Given the description of an element on the screen output the (x, y) to click on. 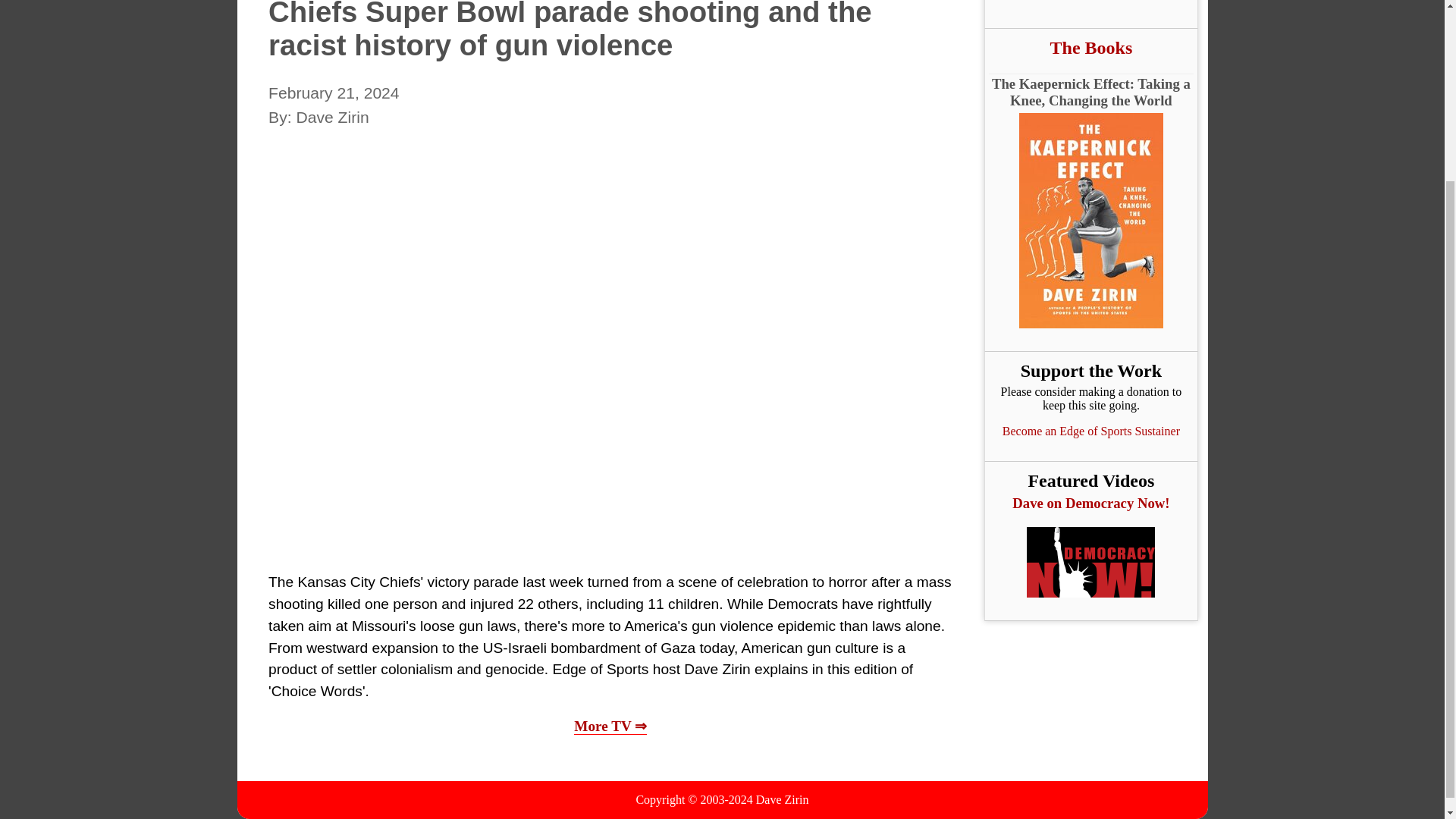
Dave Zirin (782, 799)
All Dave's Books (1090, 47)
Become an Edge of Sports Sustainer (1090, 431)
The Books (1090, 47)
Dave on Democracy Now! (1090, 503)
